Given the description of an element on the screen output the (x, y) to click on. 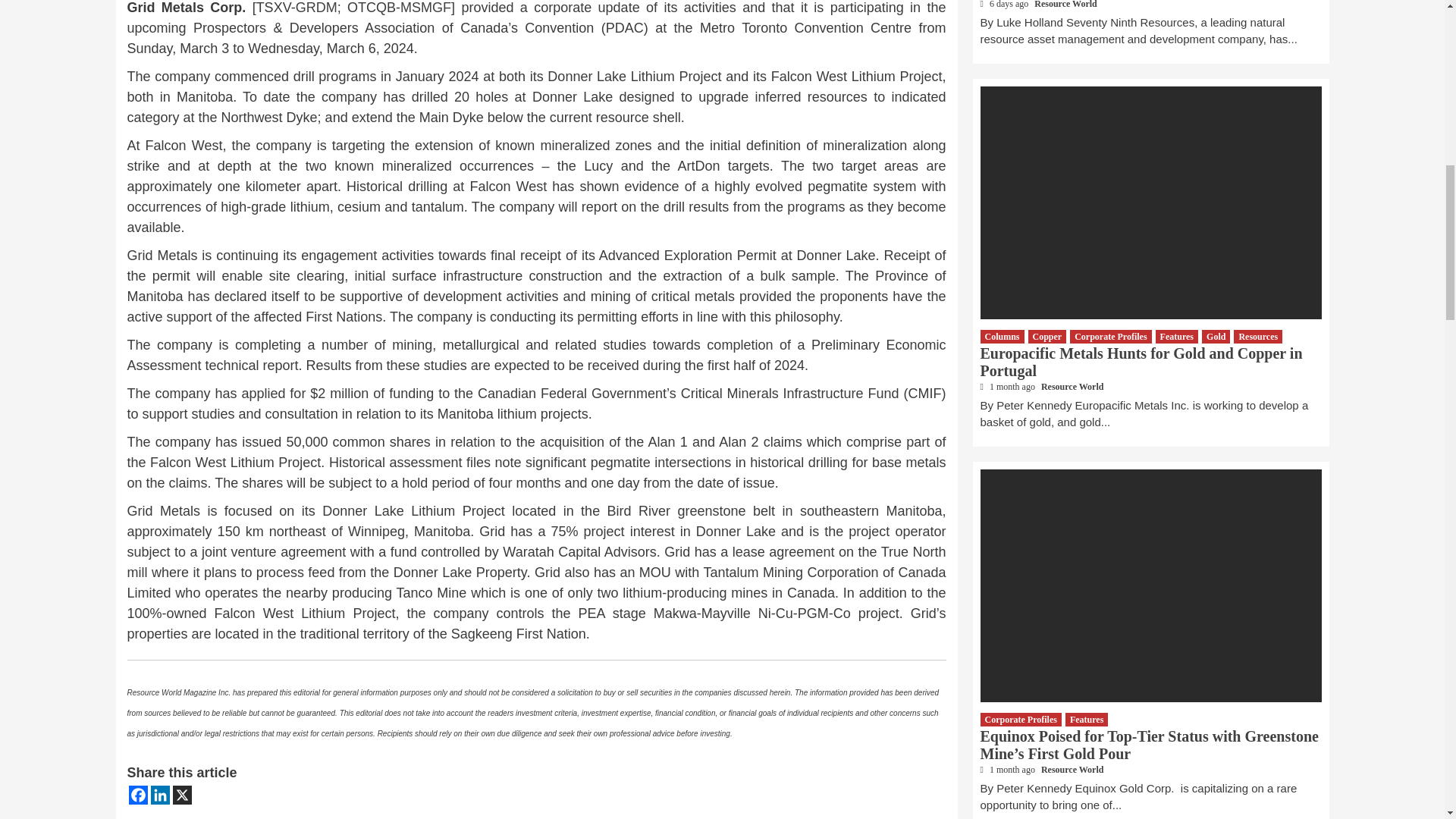
Facebook (138, 794)
Linkedin (158, 794)
X (182, 794)
